Given the description of an element on the screen output the (x, y) to click on. 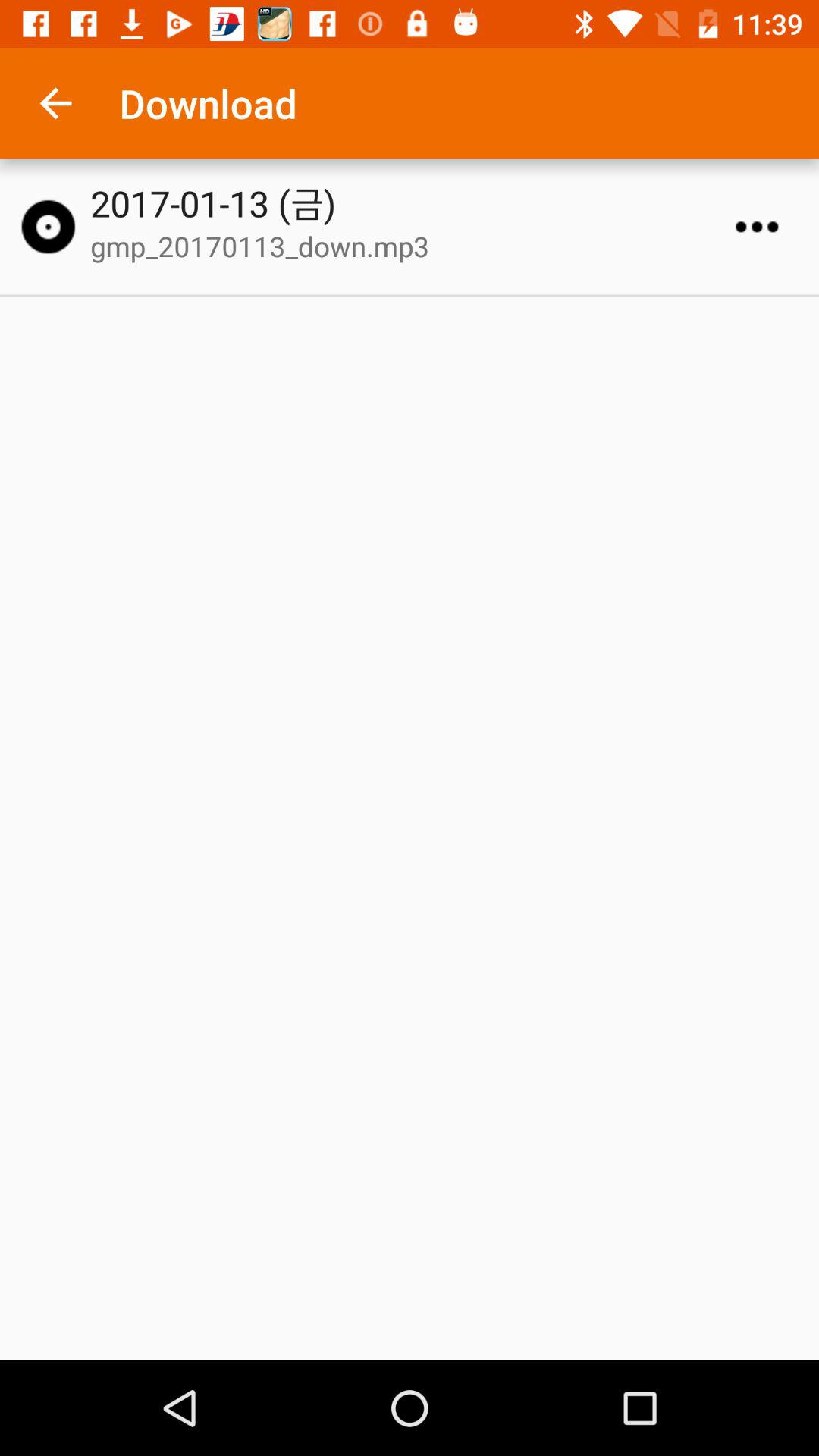
press the icon below the 2017 01 13 item (416, 246)
